Given the description of an element on the screen output the (x, y) to click on. 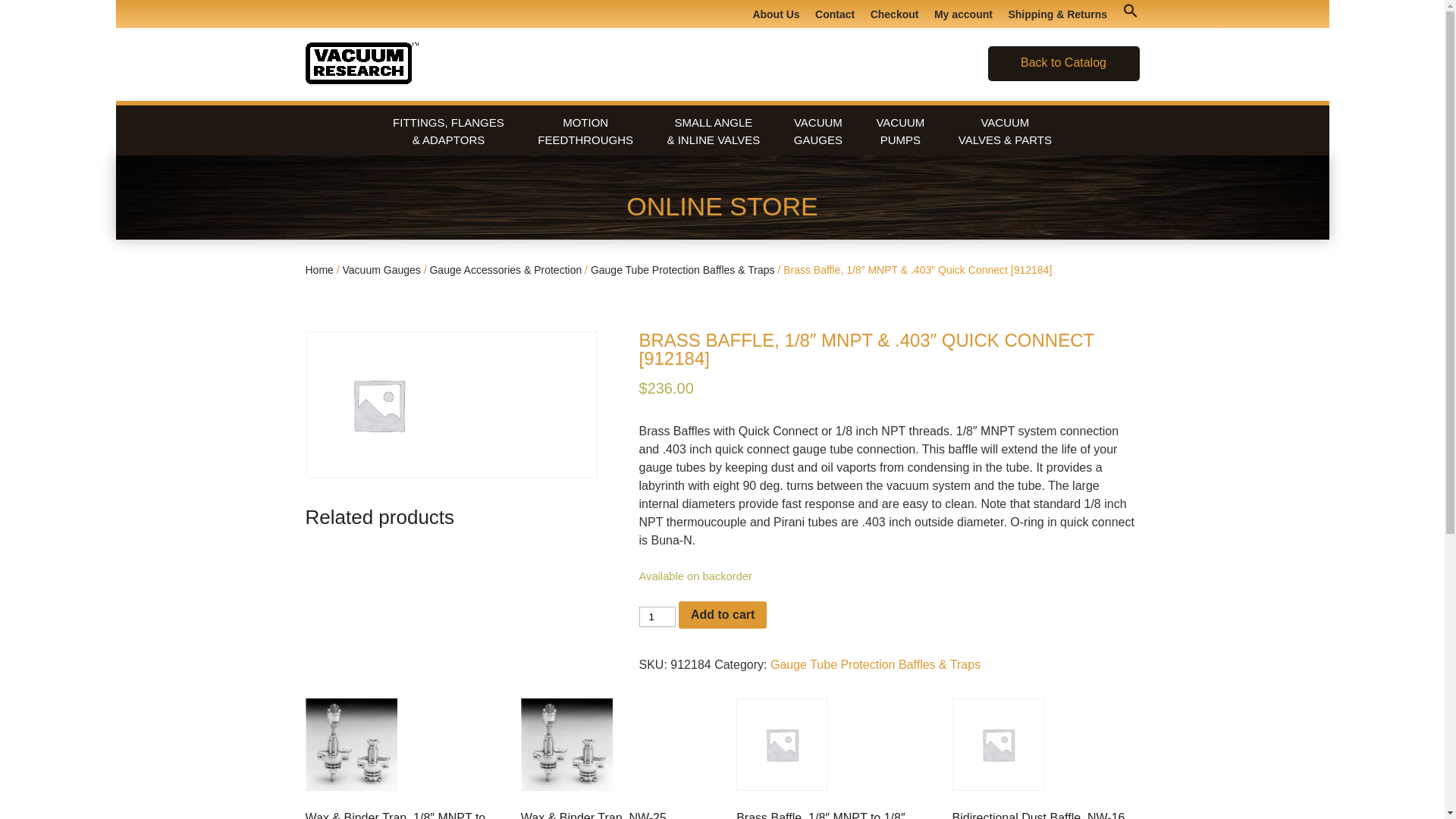
About Us (585, 131)
My account (900, 131)
Add to cart (775, 14)
Contact (963, 14)
Back to Catalog (722, 614)
Home (818, 131)
Vacuum Gauges (834, 14)
1 (1063, 62)
Checkout (318, 269)
